Given the description of an element on the screen output the (x, y) to click on. 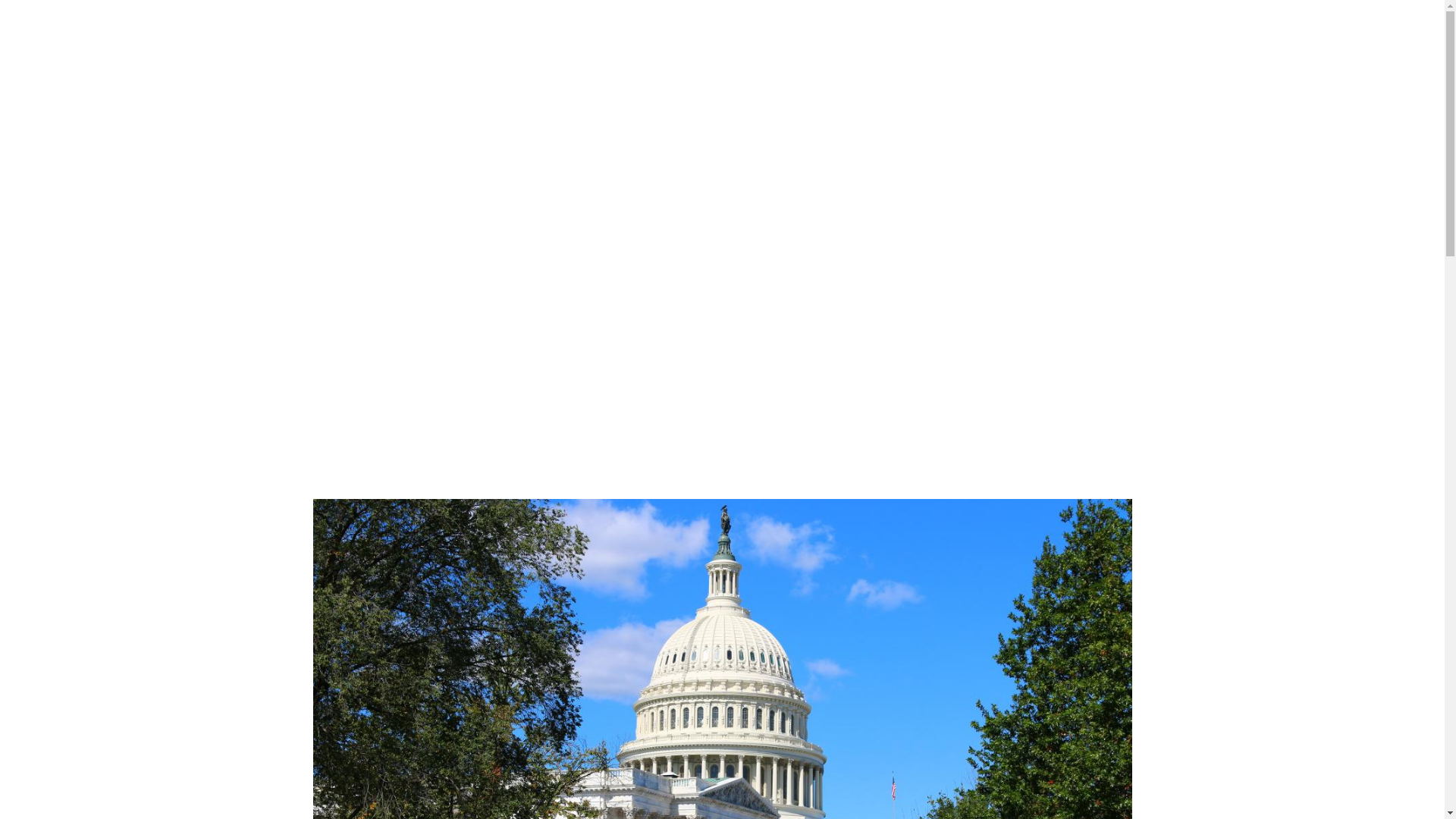
Follow on Facebook (1028, 218)
Follow on X (1058, 218)
Follow on Instagram (1088, 218)
Follow on Youtube (1118, 218)
